Given the description of an element on the screen output the (x, y) to click on. 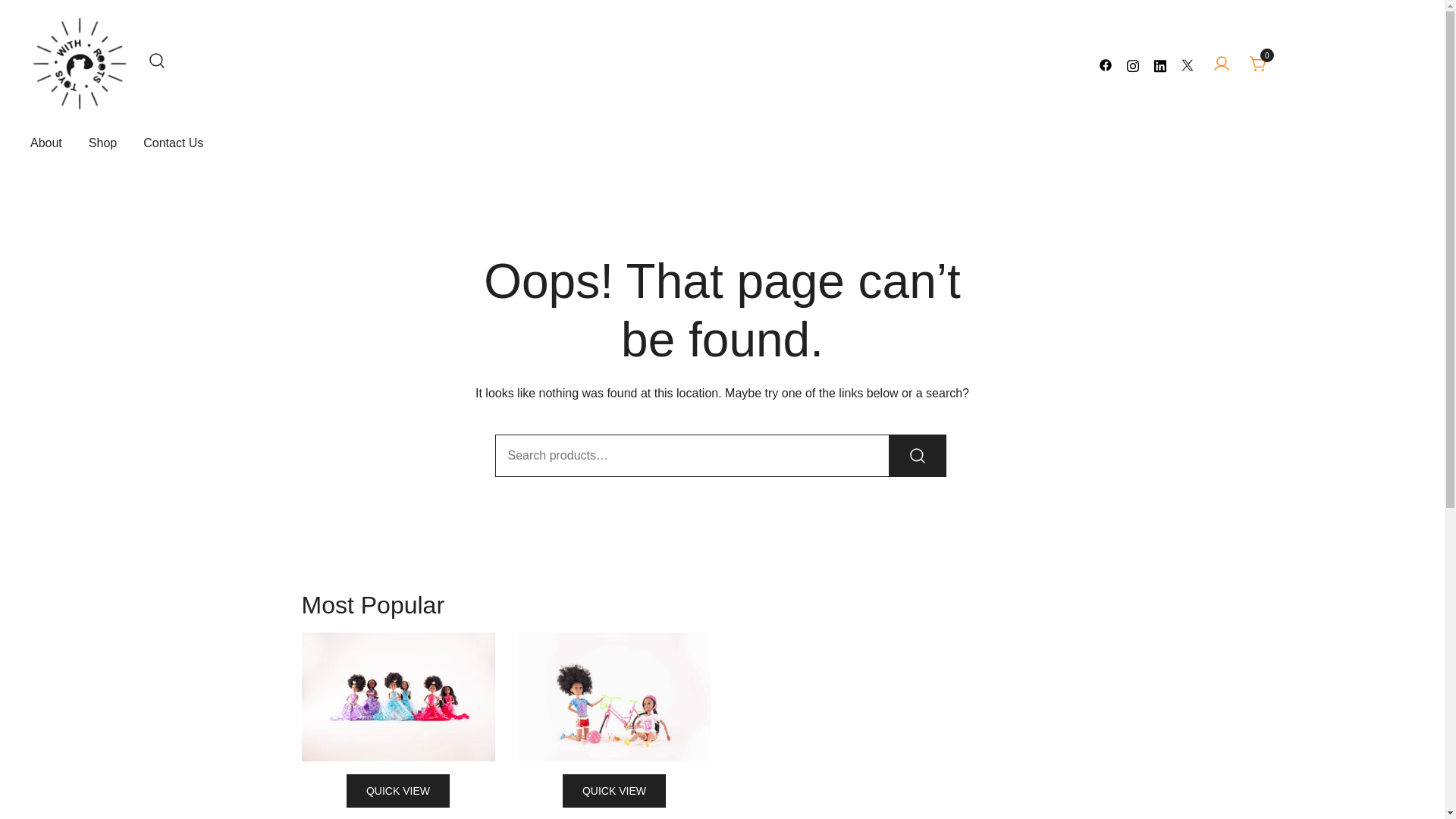
Social network facebook link. (1105, 63)
Toys With Roots (84, 127)
QUICK VIEW (397, 790)
QUICK VIEW (613, 790)
Lali Queen (398, 696)
About (46, 143)
Social network linkedin link. (1160, 63)
Social network twitter link. (1186, 63)
Search for the product (917, 455)
Search (917, 455)
Lali Bicycle (613, 696)
0 (1258, 63)
Social network instagram link. (1132, 63)
View your shopping cart (1258, 63)
Contact Us (172, 143)
